Given the description of an element on the screen output the (x, y) to click on. 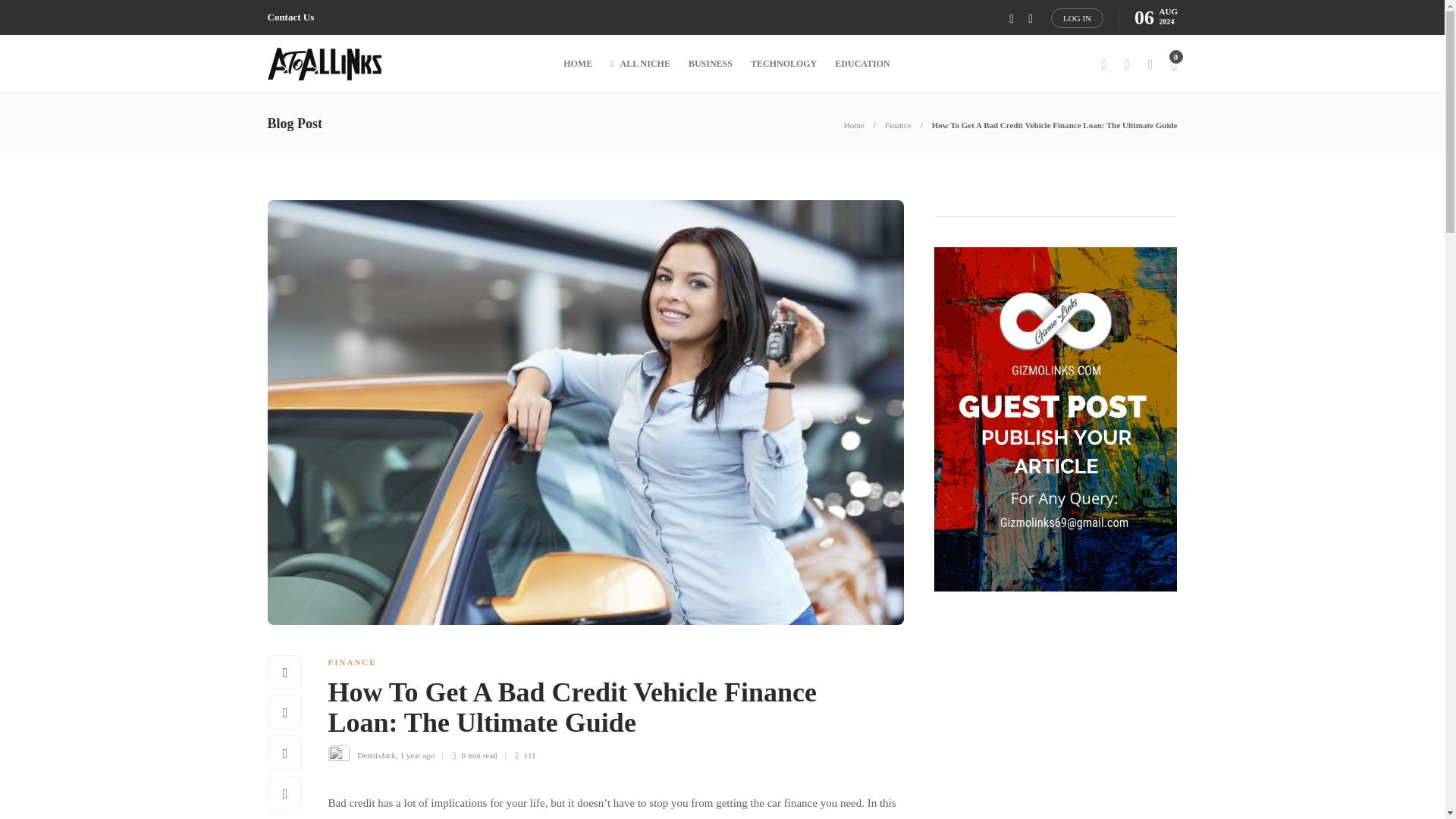
TECHNOLOGY (783, 63)
Contact Us (290, 17)
ALL NICHE (639, 63)
Home (854, 124)
FINANCE (351, 661)
EDUCATION (861, 63)
DennisJack (376, 755)
Finance (898, 124)
LOG IN (1077, 17)
Home (854, 124)
